Given the description of an element on the screen output the (x, y) to click on. 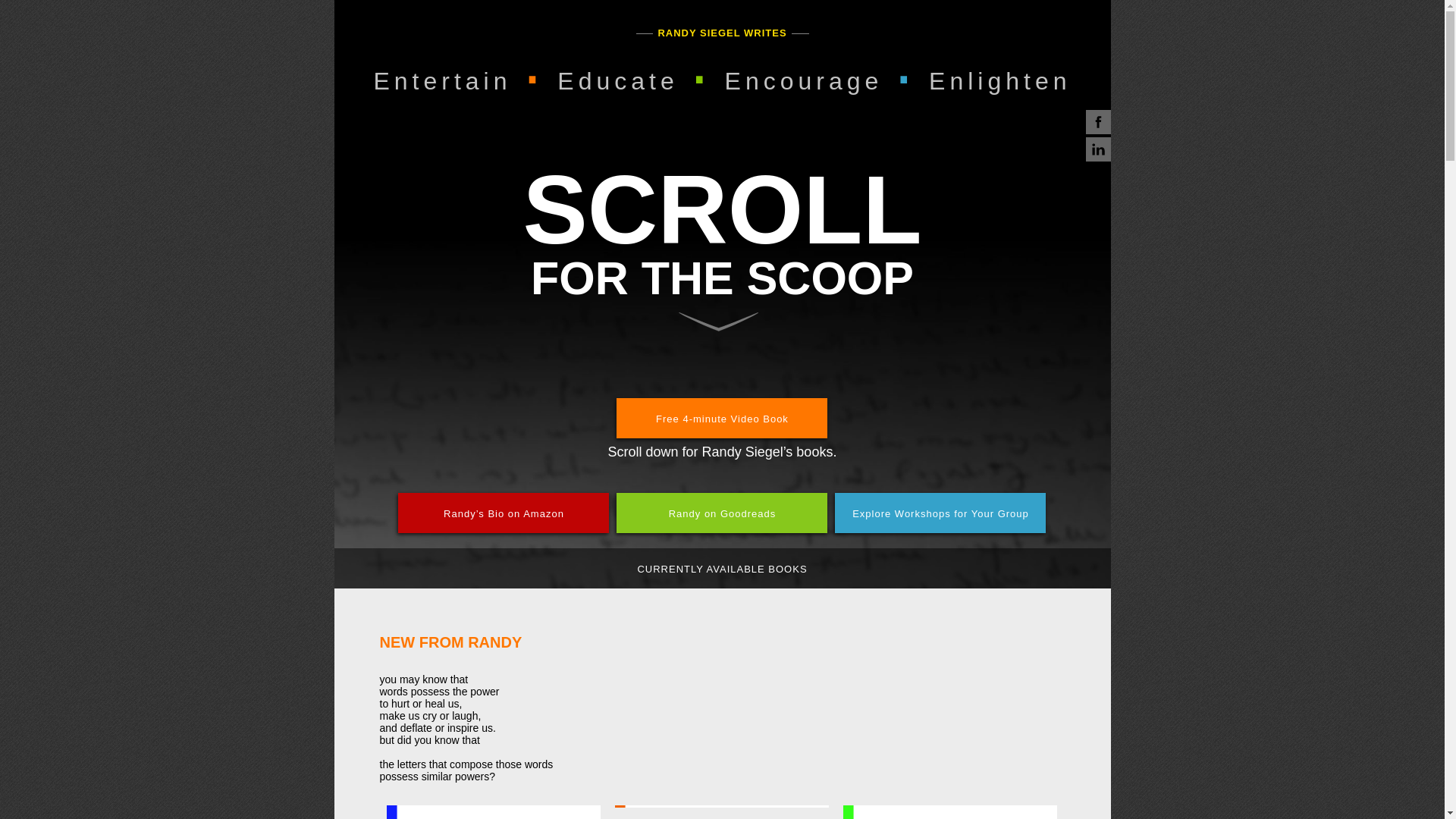
Explore Workshops for Your Group (939, 513)
Randy on Goodreads (721, 513)
Free 4-minute Video Book (721, 418)
